Given the description of an element on the screen output the (x, y) to click on. 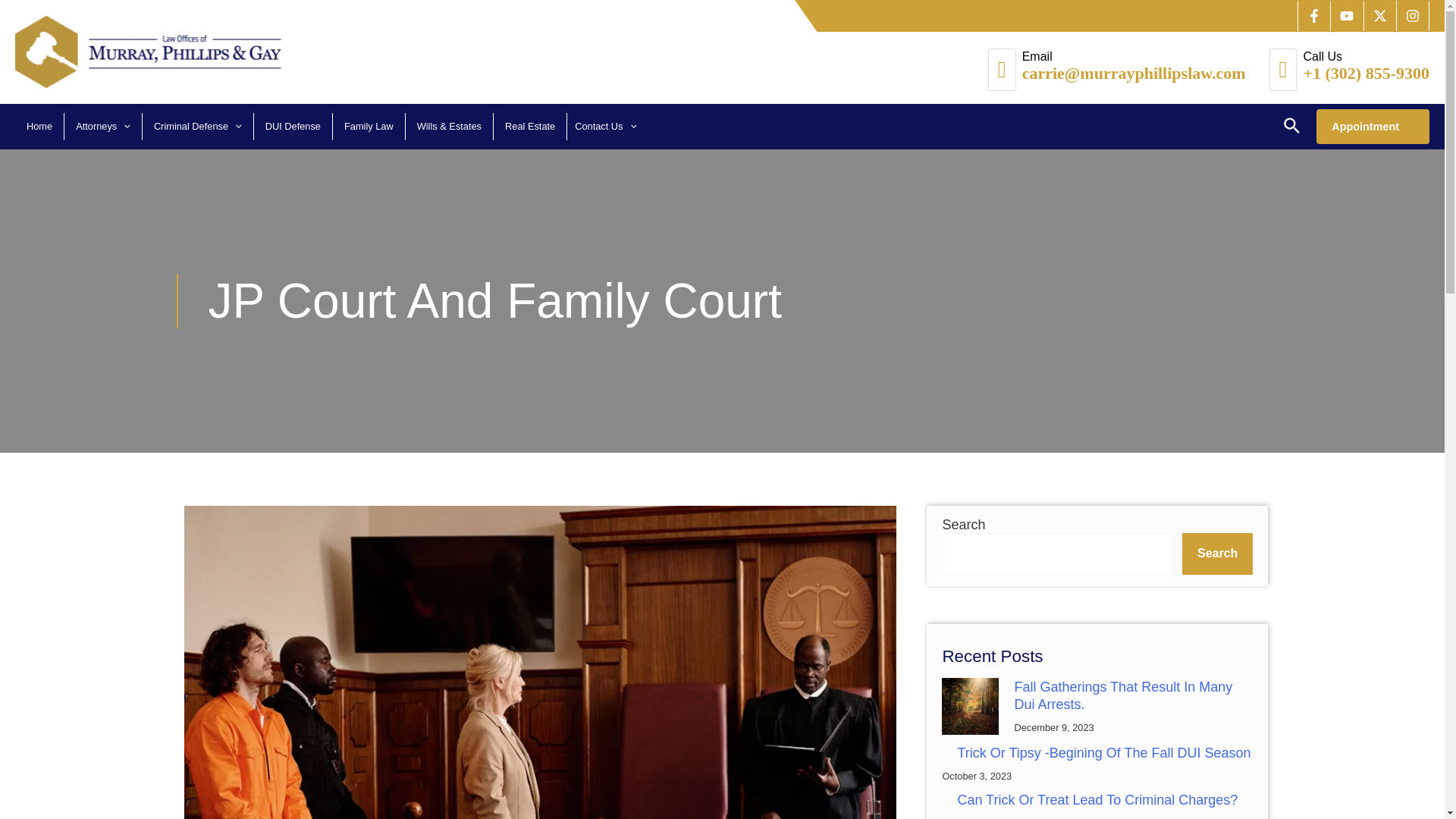
Attorneys (103, 126)
Home (38, 126)
Family Law (368, 126)
Criminal Defense (197, 126)
DUI Defense (293, 126)
